Given the description of an element on the screen output the (x, y) to click on. 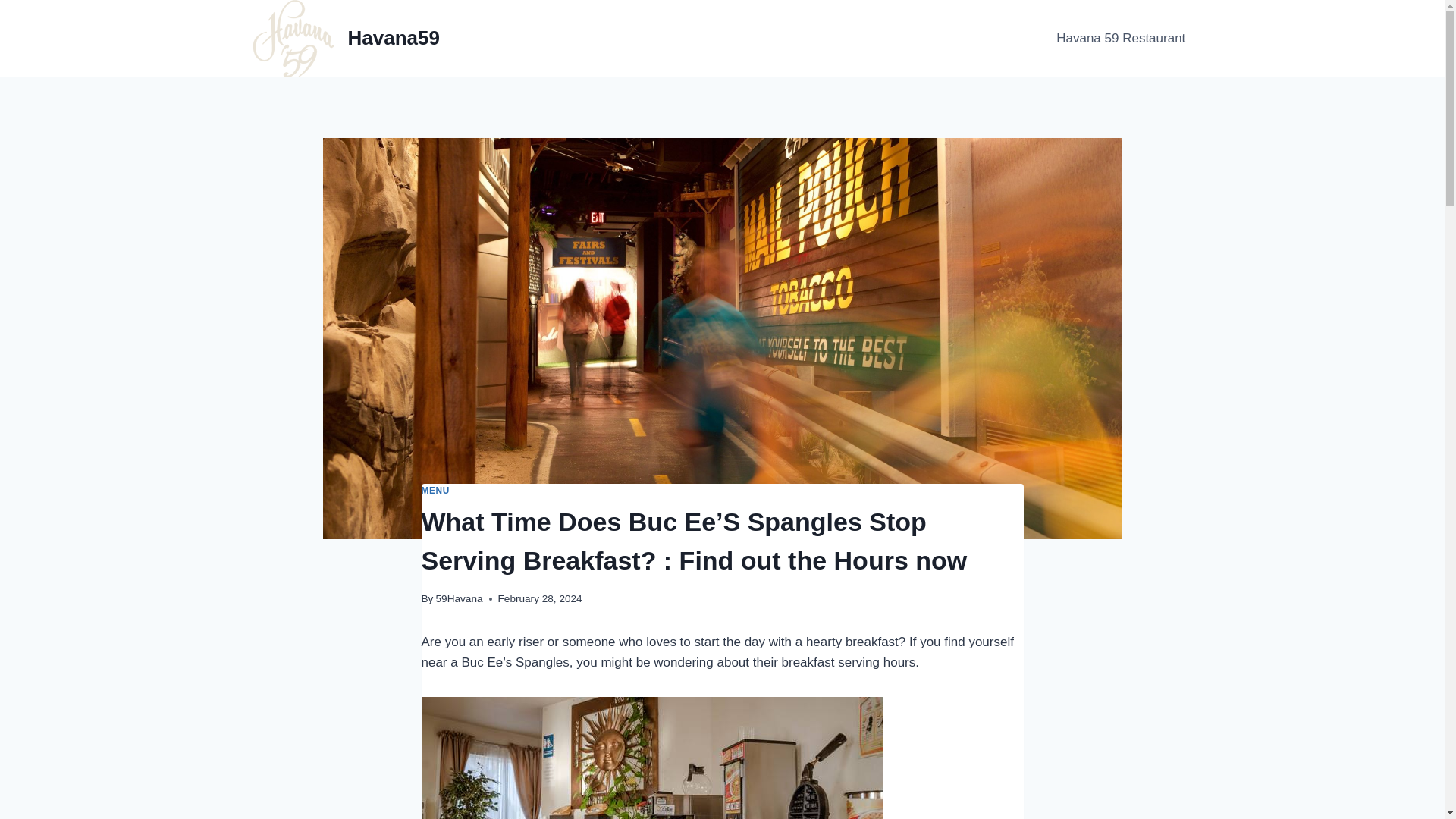
MENU (435, 490)
Havana59 (345, 38)
Havana 59 Restaurant (1120, 38)
59Havana (459, 598)
